Given the description of an element on the screen output the (x, y) to click on. 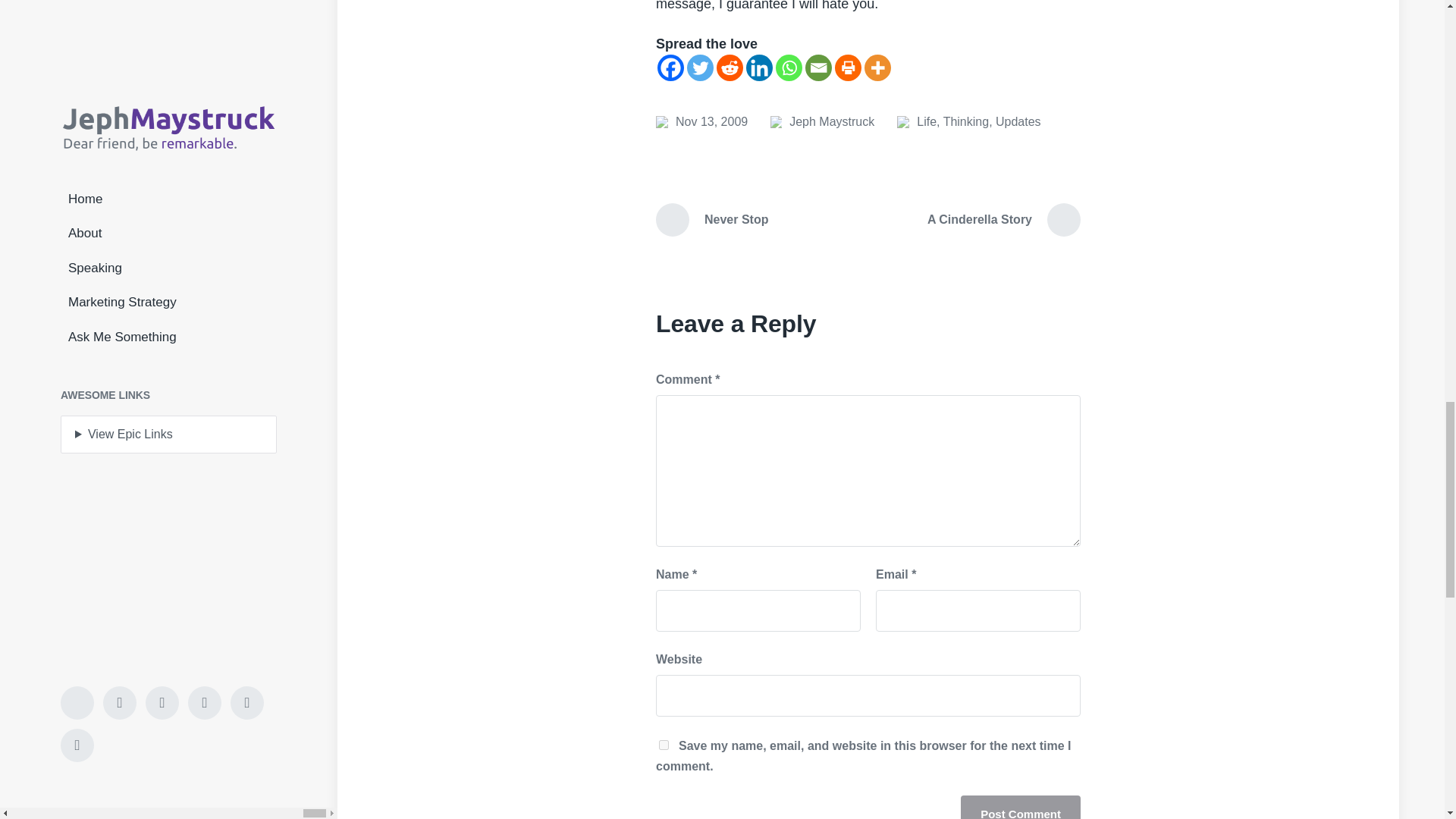
More (877, 67)
Whatsapp (789, 67)
Email (818, 67)
yes (663, 745)
Post Comment (1020, 807)
Linkedin (759, 67)
Facebook (671, 67)
Twitter (700, 67)
How To: Get Me to Hate Your Organization (702, 122)
Reddit (729, 67)
